Given the description of an element on the screen output the (x, y) to click on. 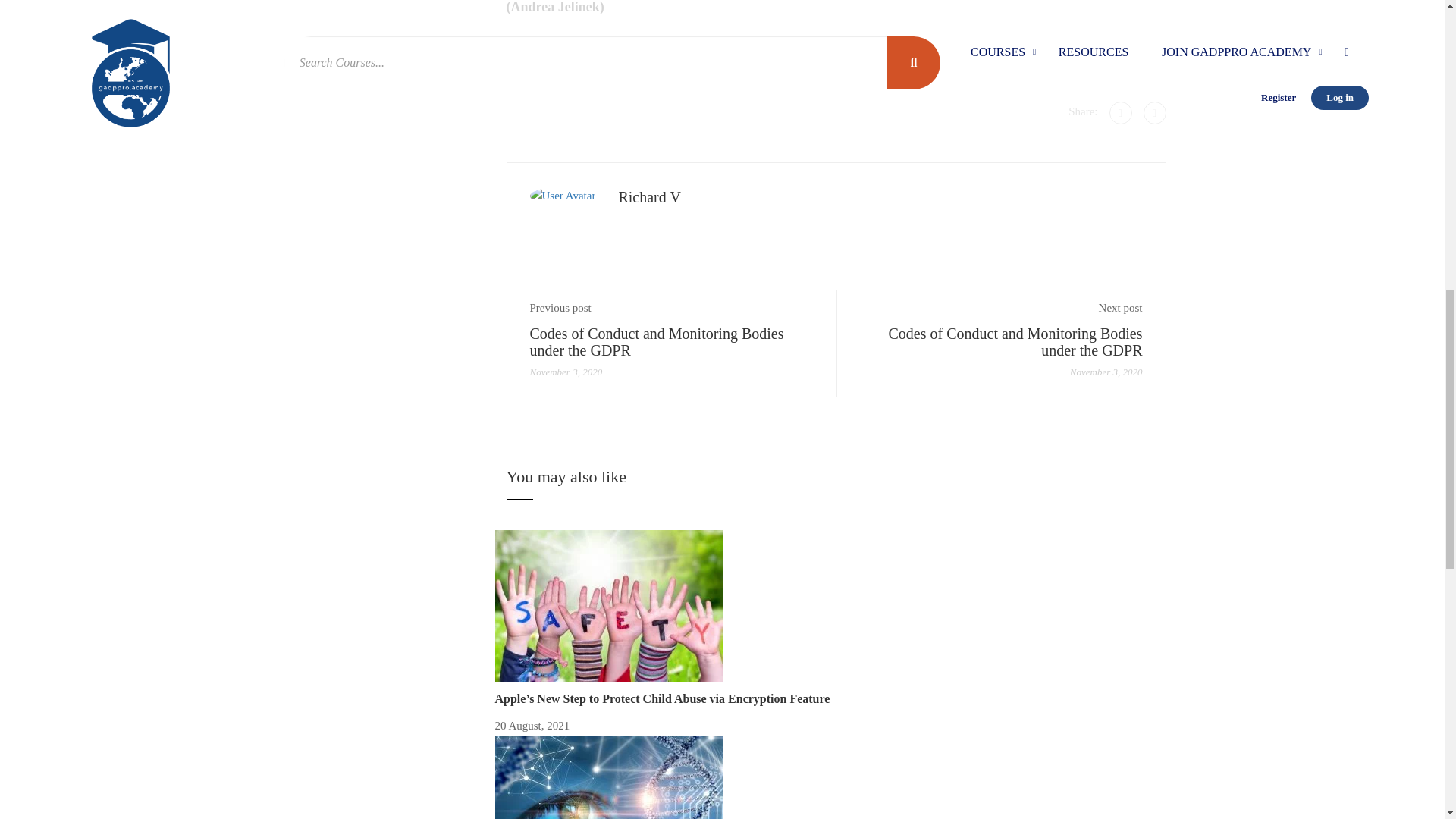
Facebook (1119, 112)
Children Safety Encryption www.privacad.com (608, 605)
DNA Technology and Privacy www.privacad.com (608, 777)
